Given the description of an element on the screen output the (x, y) to click on. 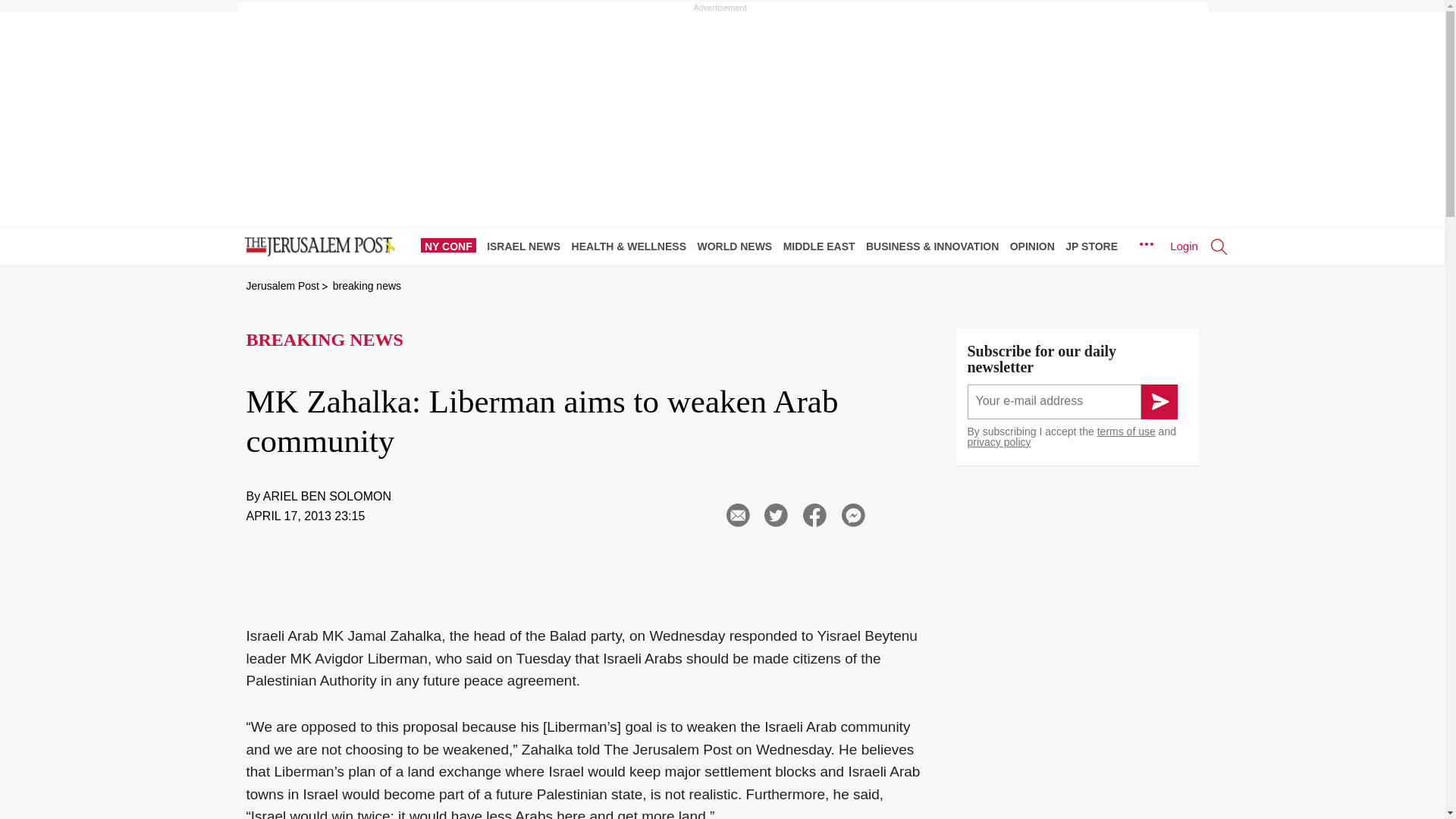
Jerusalem Post (282, 285)
JP STORE (1095, 246)
MIDDLE EAST (823, 246)
breaking news (367, 285)
ARIEL BEN SOLOMON (327, 495)
breaking news (367, 285)
NY CONF (451, 246)
The Jerusalem Post Logo - Bring them home now (316, 248)
